Given the description of an element on the screen output the (x, y) to click on. 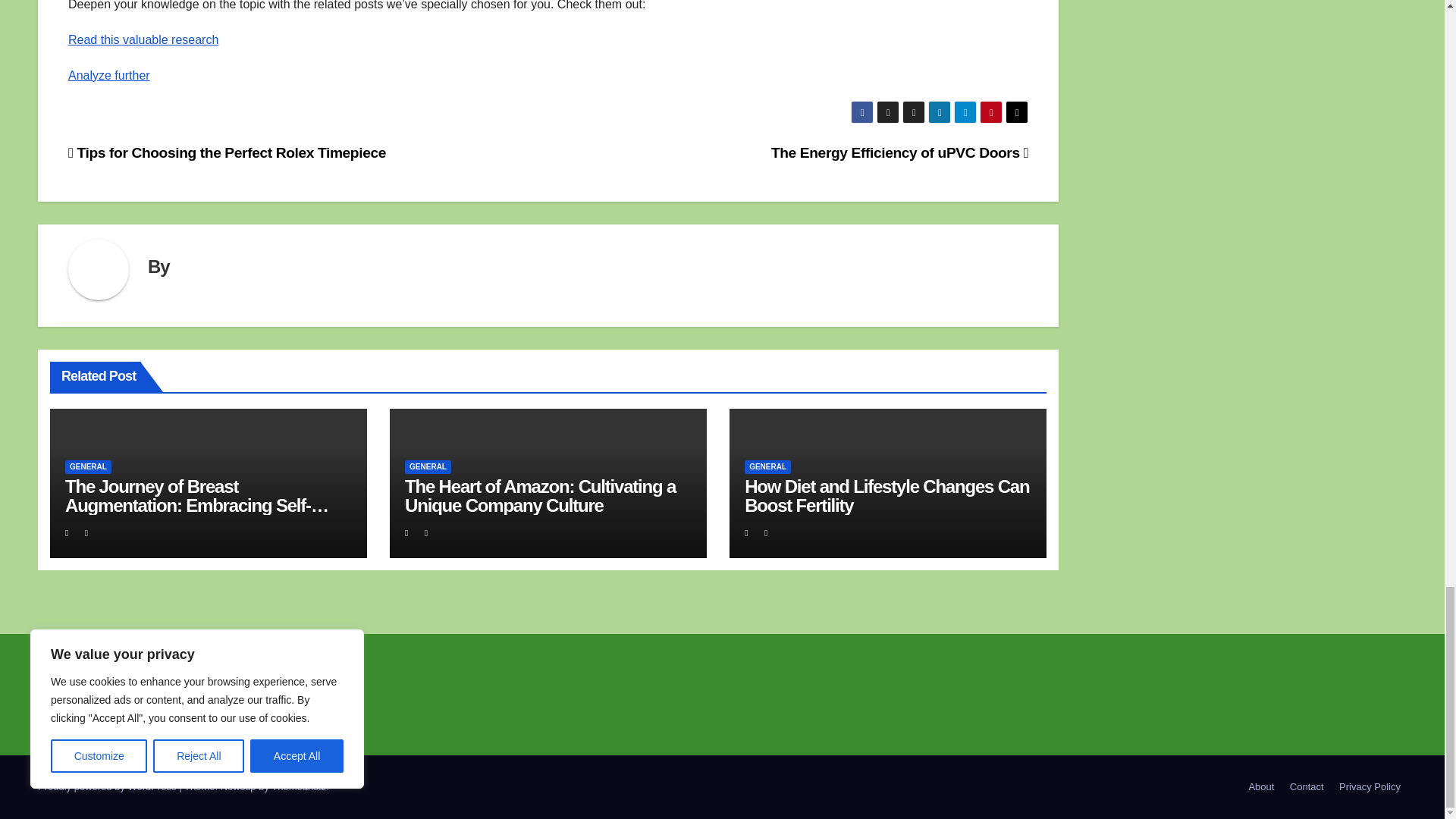
About (1260, 786)
Privacy Policy (1369, 786)
Contact (1307, 786)
Read this valuable research (143, 39)
Analyze further (108, 74)
